Given the description of an element on the screen output the (x, y) to click on. 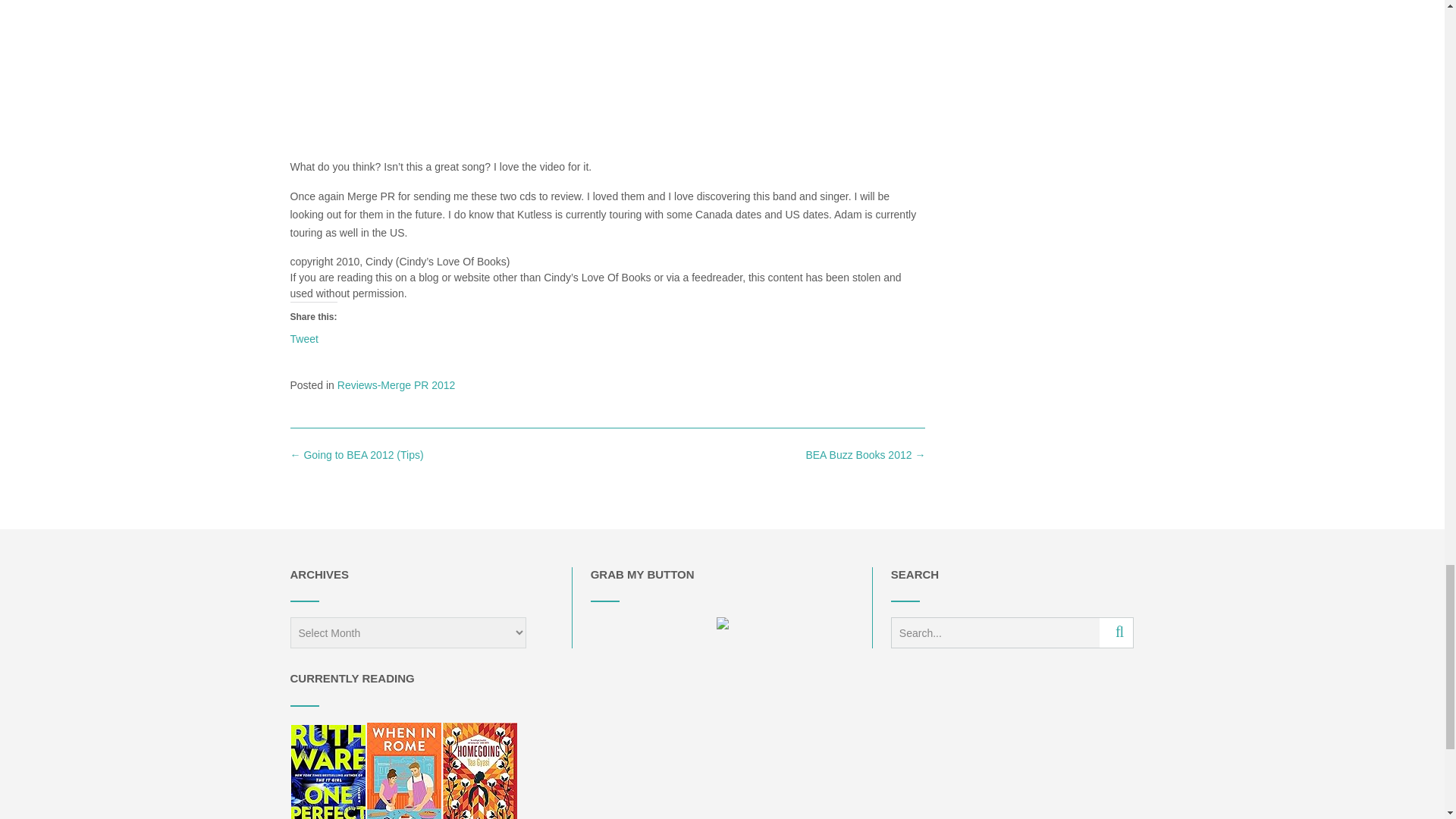
Reviews-Merge PR 2012 (396, 385)
Tweet (303, 337)
Search for: (995, 632)
